Given the description of an element on the screen output the (x, y) to click on. 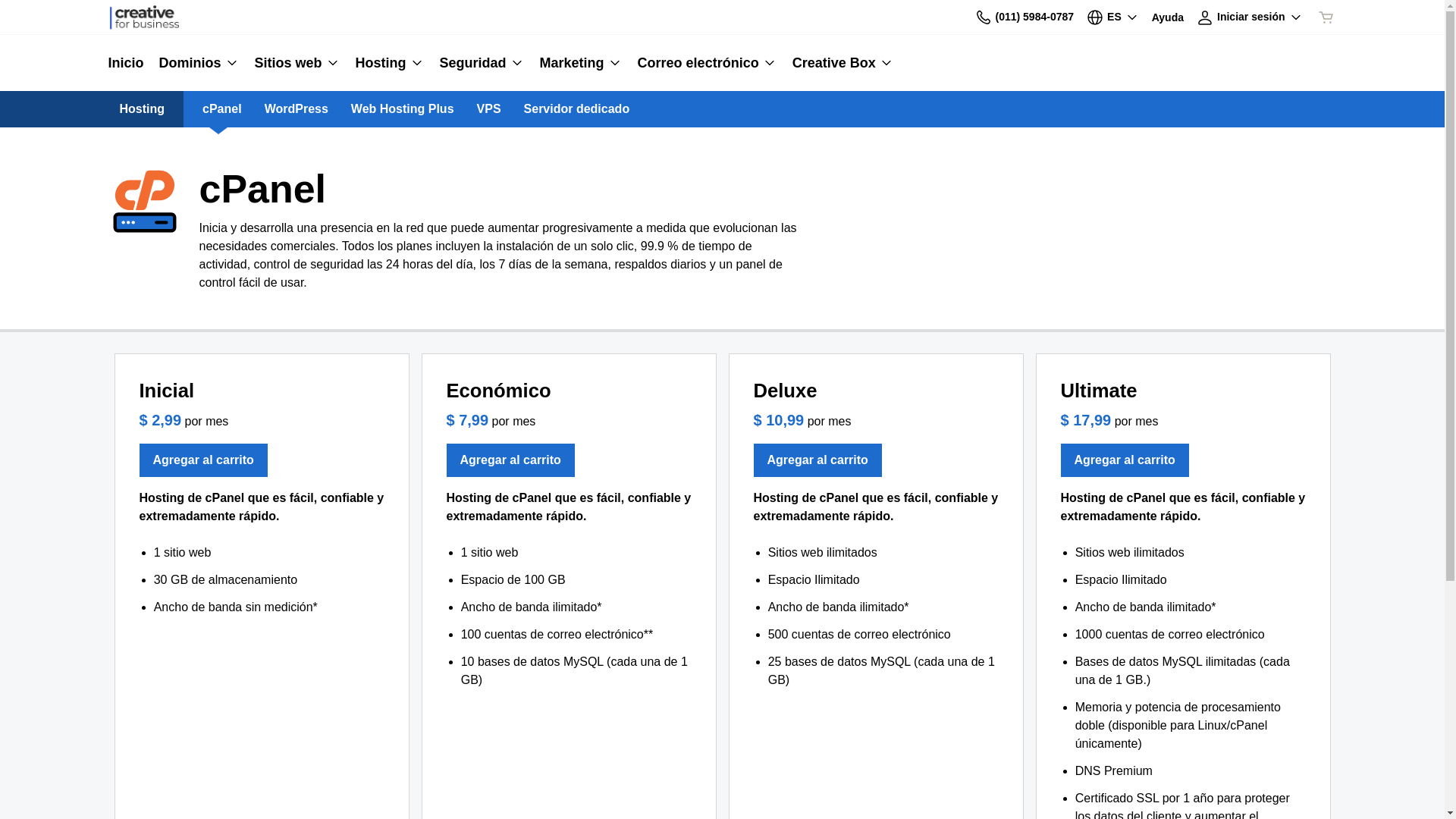
Sitios web Element type: text (297, 62)
VPS Element type: text (488, 108)
Agregar al carrito Element type: text (817, 459)
Web Hosting Plus Element type: text (402, 108)
Marketing Element type: text (581, 62)
cPanel Element type: text (221, 108)
Dominios Element type: text (199, 62)
Agregar al carrito Element type: text (509, 459)
Servidor dedicado Element type: text (577, 108)
Seguridad Element type: text (482, 62)
(011) 5984-0787 Element type: text (1024, 17)
Creative Box Element type: text (839, 62)
Agregar al carrito Element type: text (203, 459)
Hosting Element type: text (390, 62)
Agregar al carrito Element type: text (1124, 459)
ES Element type: text (1112, 17)
Inicio Element type: text (128, 62)
WordPress Element type: text (296, 108)
Ayuda Element type: text (1167, 17)
